Given the description of an element on the screen output the (x, y) to click on. 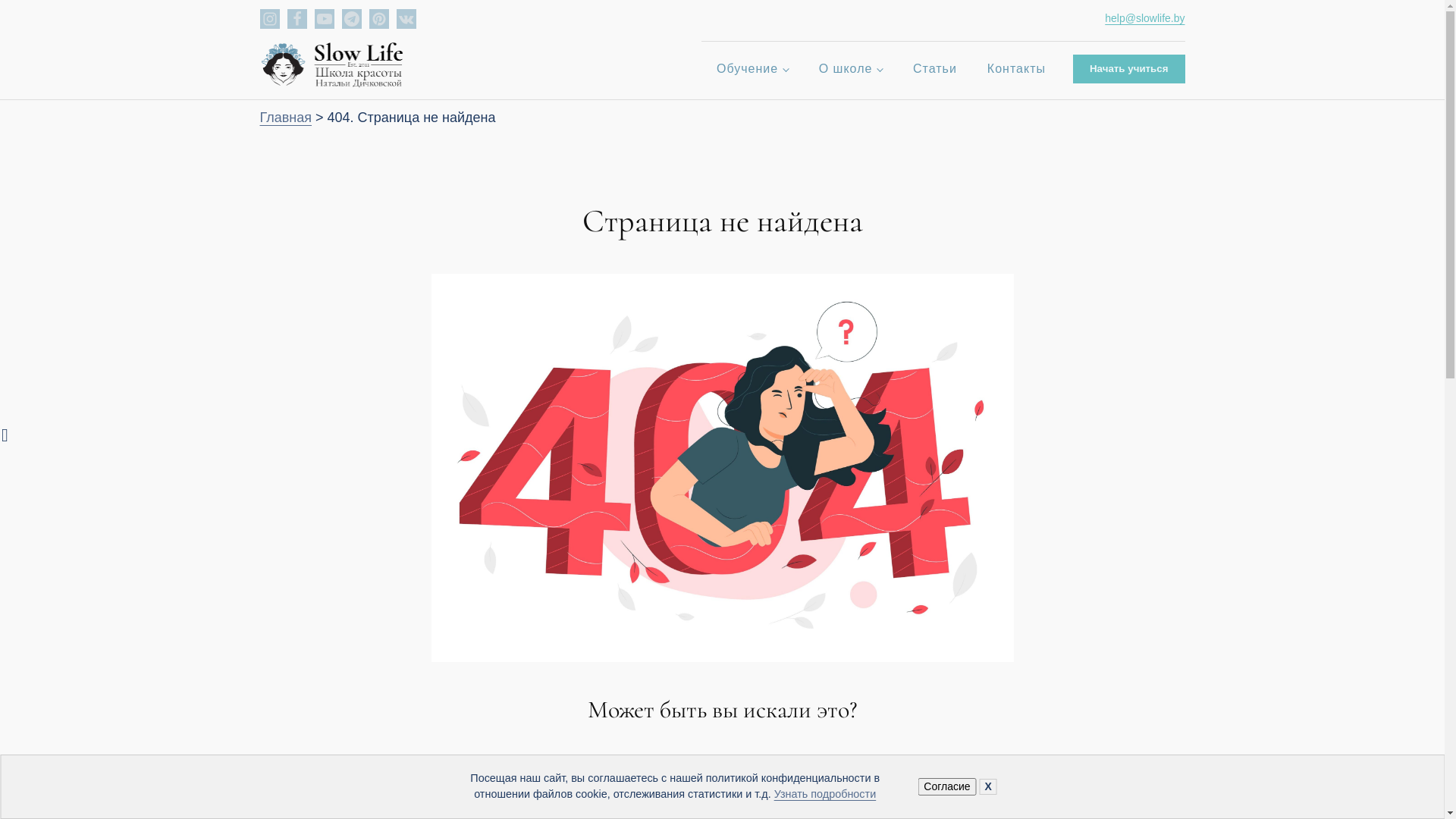
X Element type: text (988, 785)
help@slowlife.by Element type: text (1133, 18)
